Given the description of an element on the screen output the (x, y) to click on. 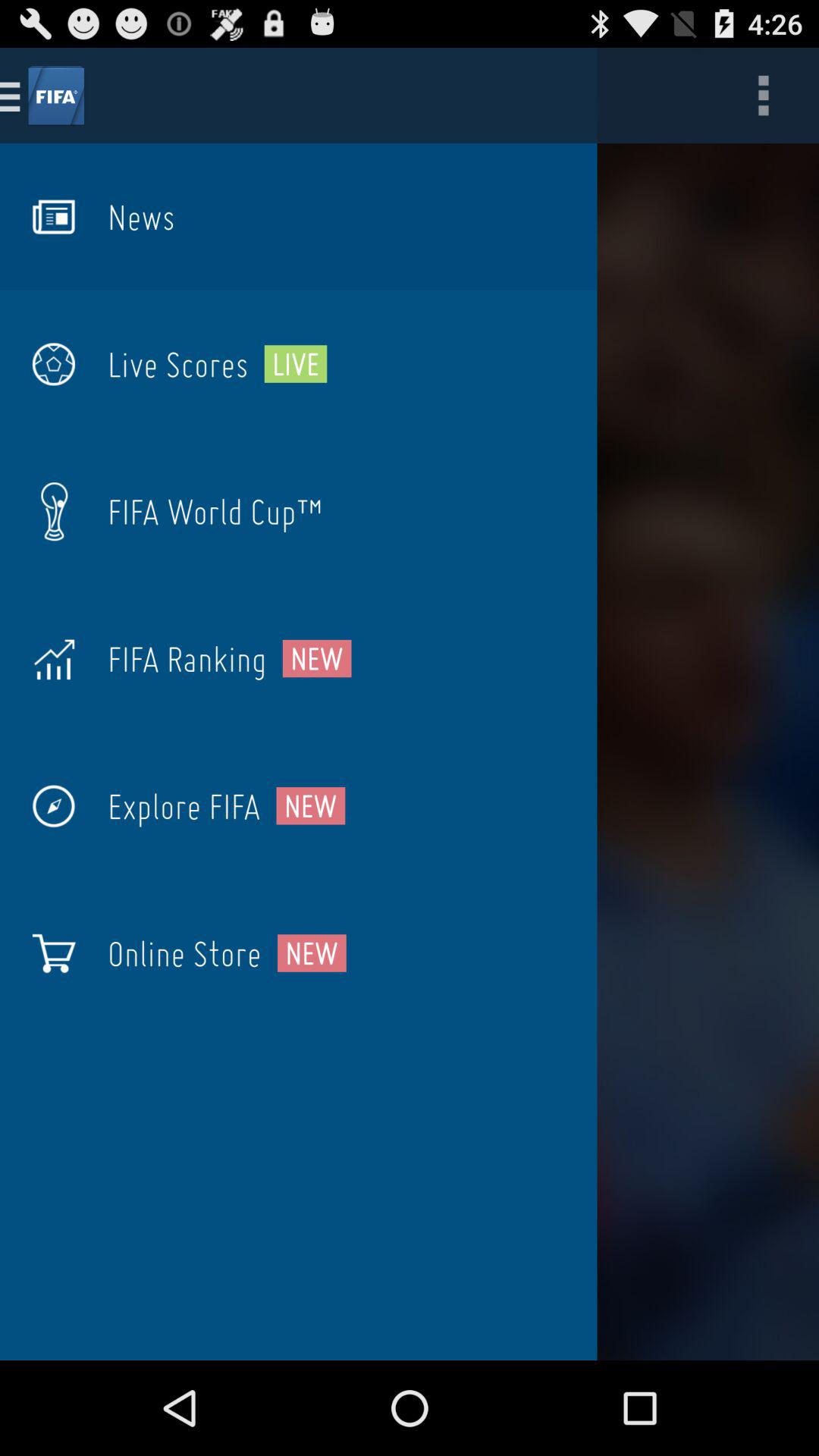
click the live scores icon (177, 363)
